Given the description of an element on the screen output the (x, y) to click on. 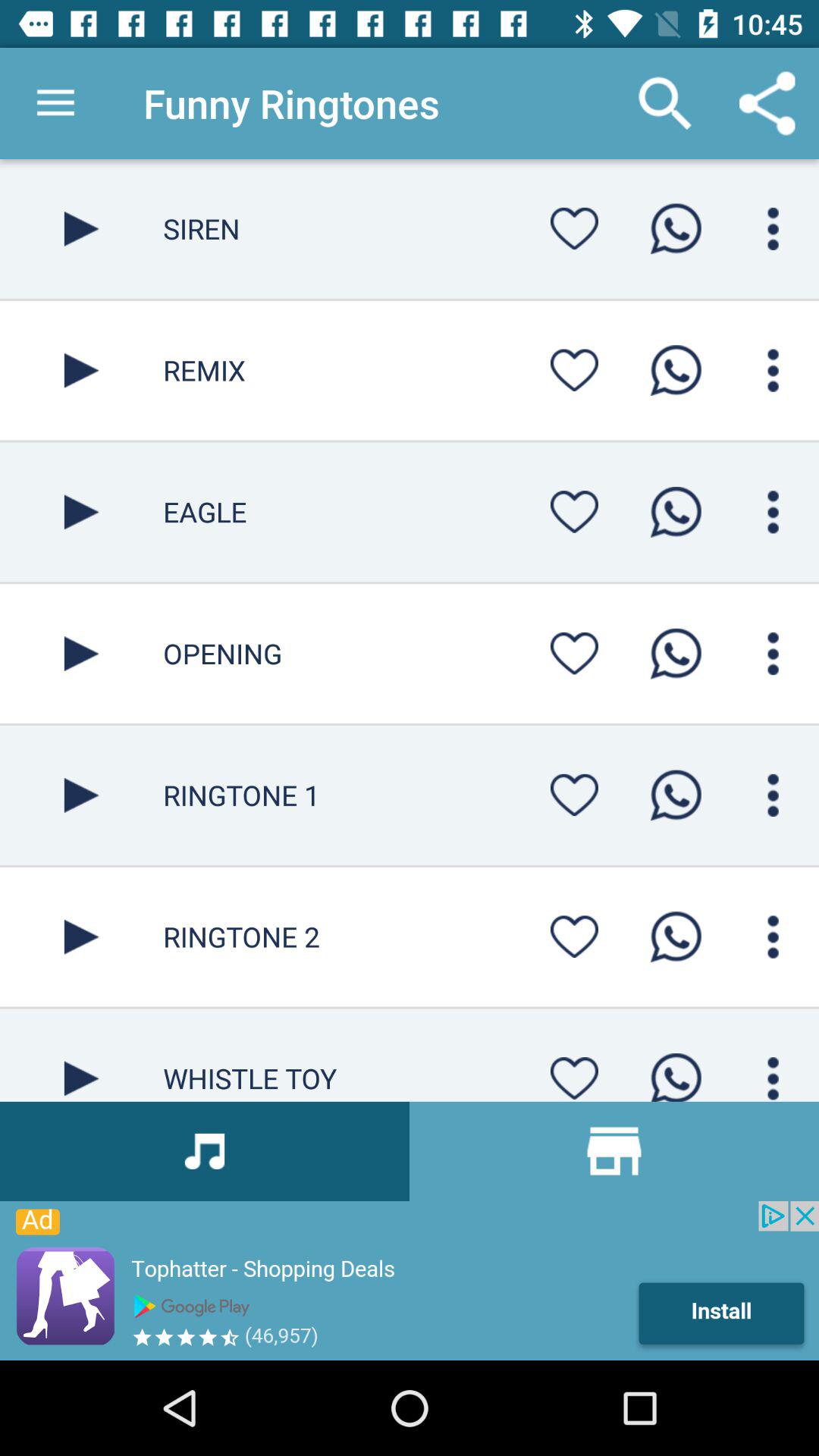
play ringtone (81, 511)
